Given the description of an element on the screen output the (x, y) to click on. 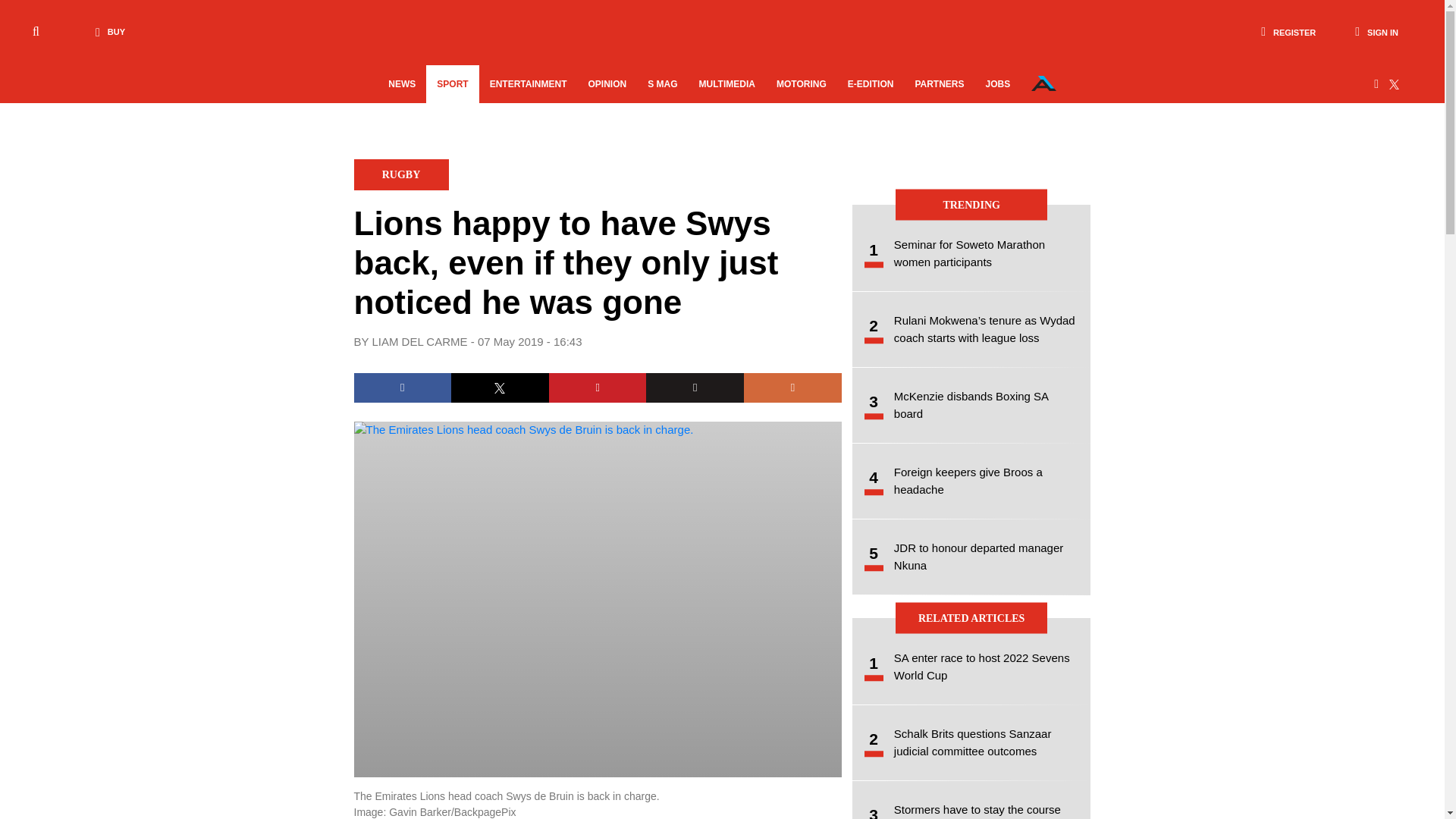
MULTIMEDIA (726, 84)
ENTERTAINMENT (528, 84)
MOTORING (801, 84)
NEWS (401, 84)
BUY (106, 32)
Our Network (1042, 83)
JOBS (998, 84)
E-EDITION (870, 84)
PARTNERS (939, 84)
OPINION (606, 84)
